Given the description of an element on the screen output the (x, y) to click on. 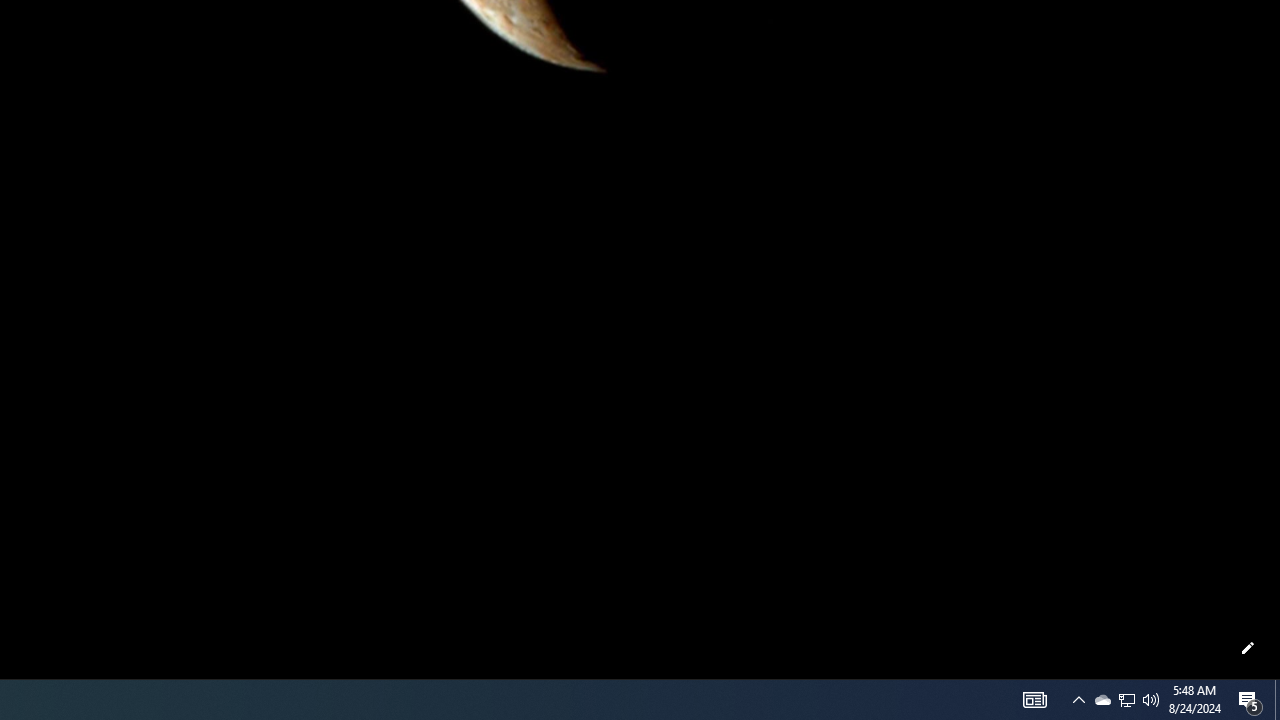
Customize this page (1247, 647)
